Given the description of an element on the screen output the (x, y) to click on. 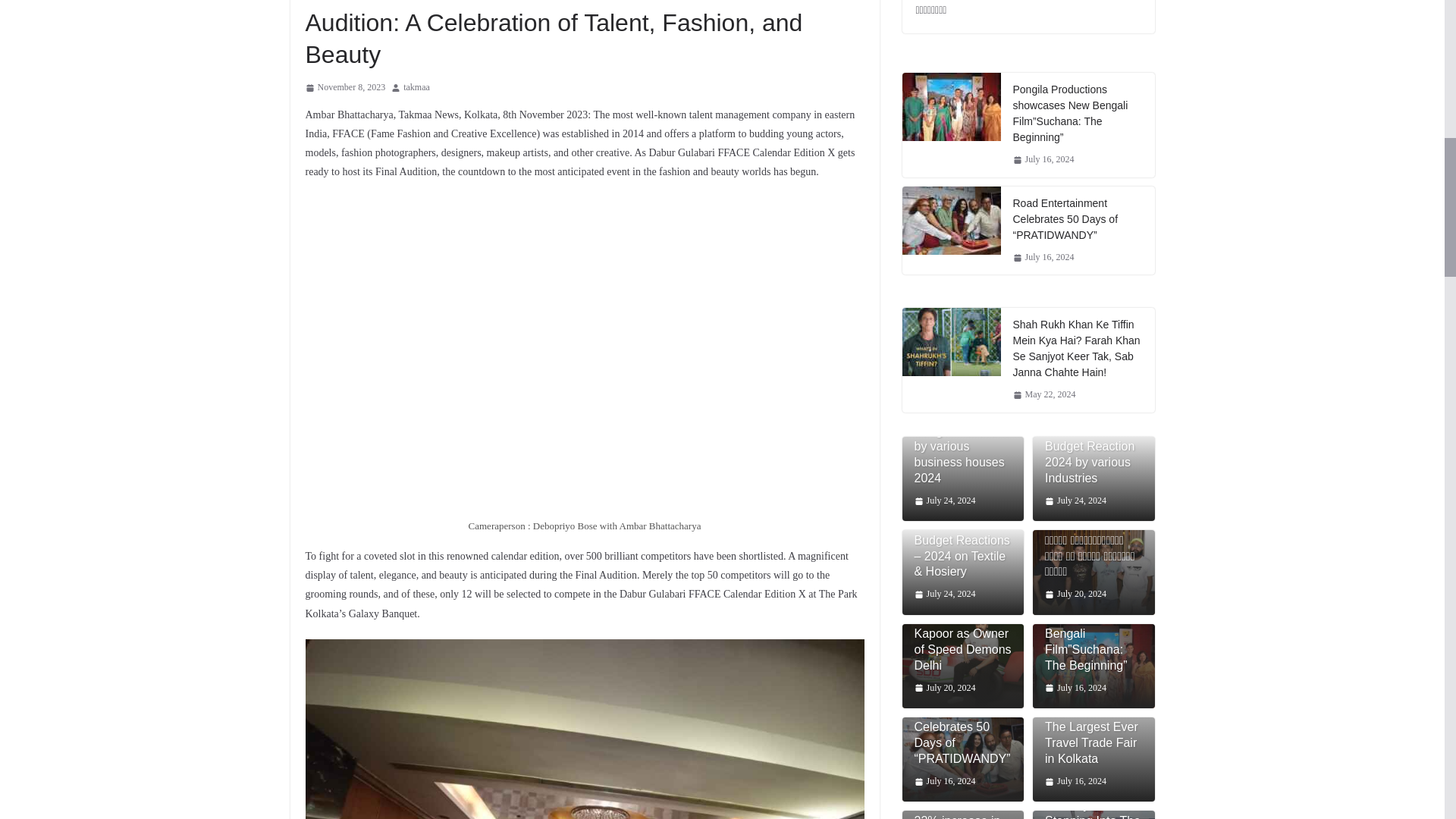
November 8, 2023 (344, 87)
takmaa (416, 87)
